Given the description of an element on the screen output the (x, y) to click on. 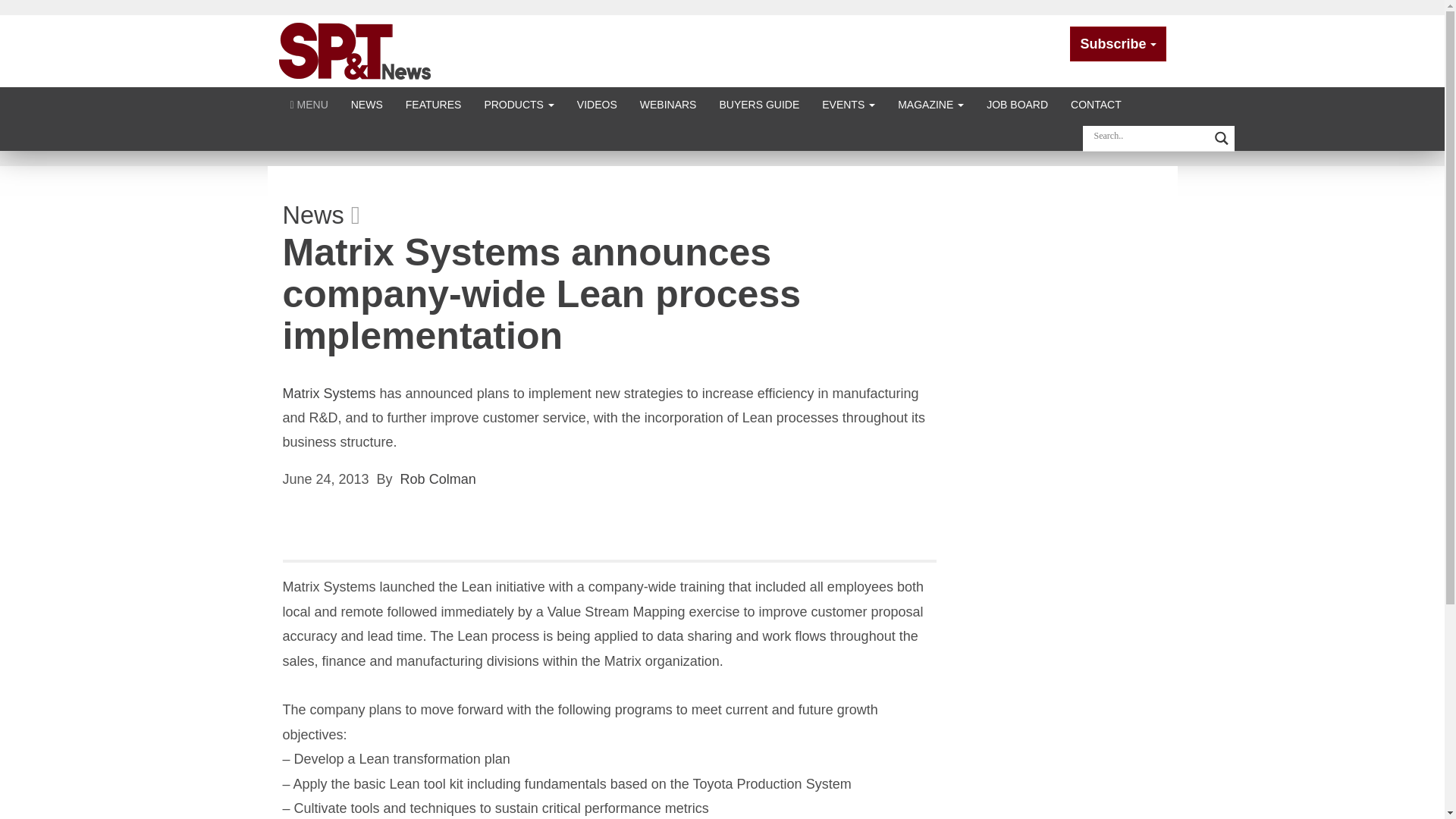
Click to show site navigation (309, 103)
MENU (309, 103)
NEWS (366, 103)
MAGAZINE (930, 103)
EVENTS (848, 103)
BUYERS GUIDE (758, 103)
CONTACT (1095, 103)
WEBINARS (667, 103)
Subscribe (1118, 43)
FEATURES (433, 103)
